Given the description of an element on the screen output the (x, y) to click on. 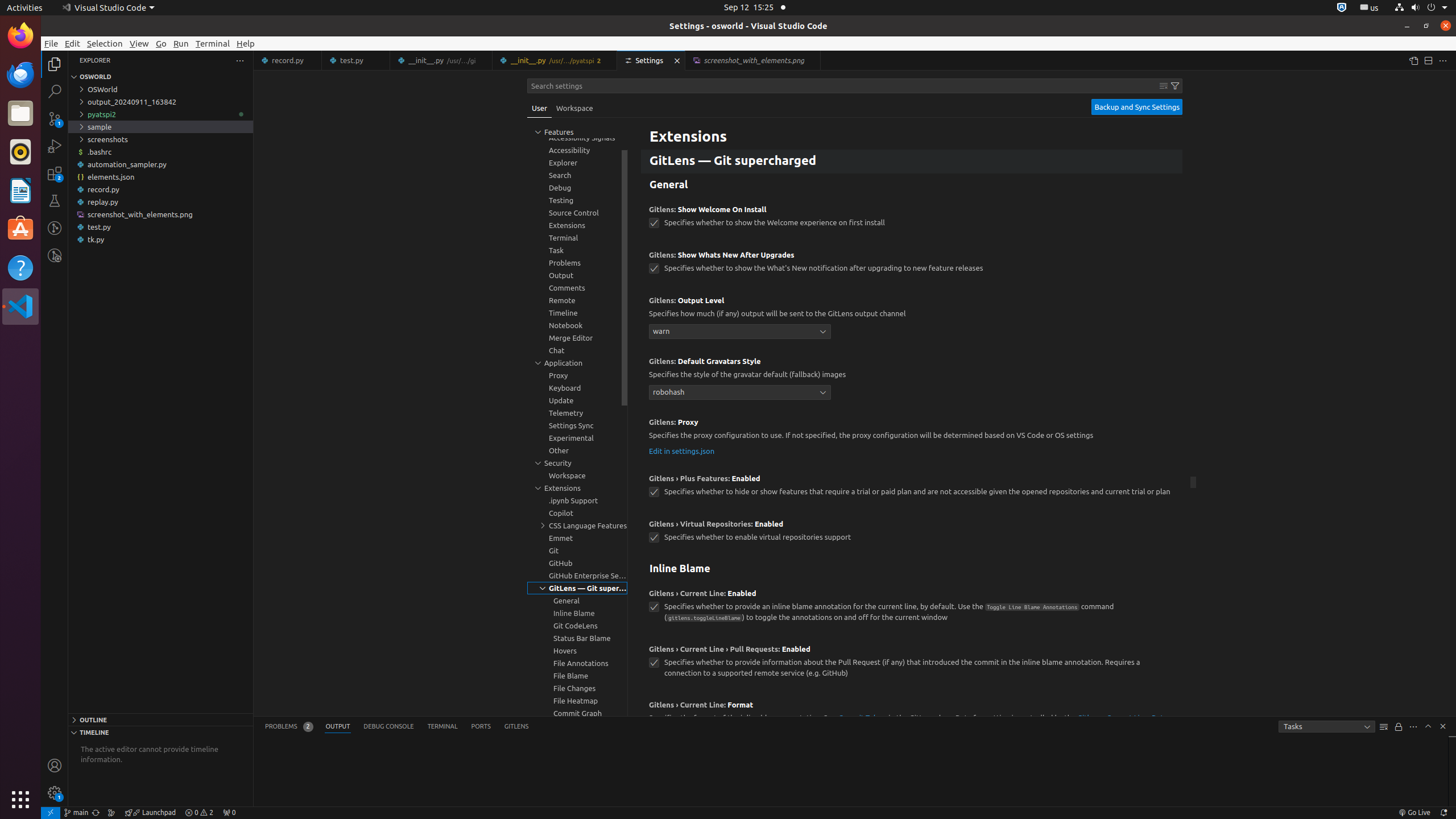
Warnings: 2 Element type: push-button (199, 812)
Problems, group Element type: tree-item (577, 262)
pyatspi2 Element type: tree-item (160, 114)
screenshot_with_elements.png, preview Element type: page-tab (753, 60)
Security, group Element type: tree-item (577, 462)
